Given the description of an element on the screen output the (x, y) to click on. 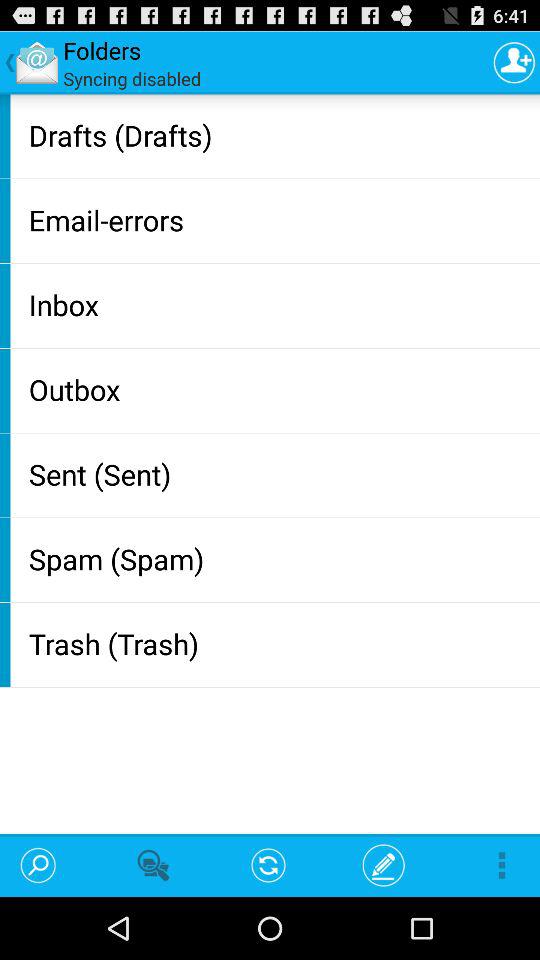
select icon below syncing disabled (280, 134)
